Given the description of an element on the screen output the (x, y) to click on. 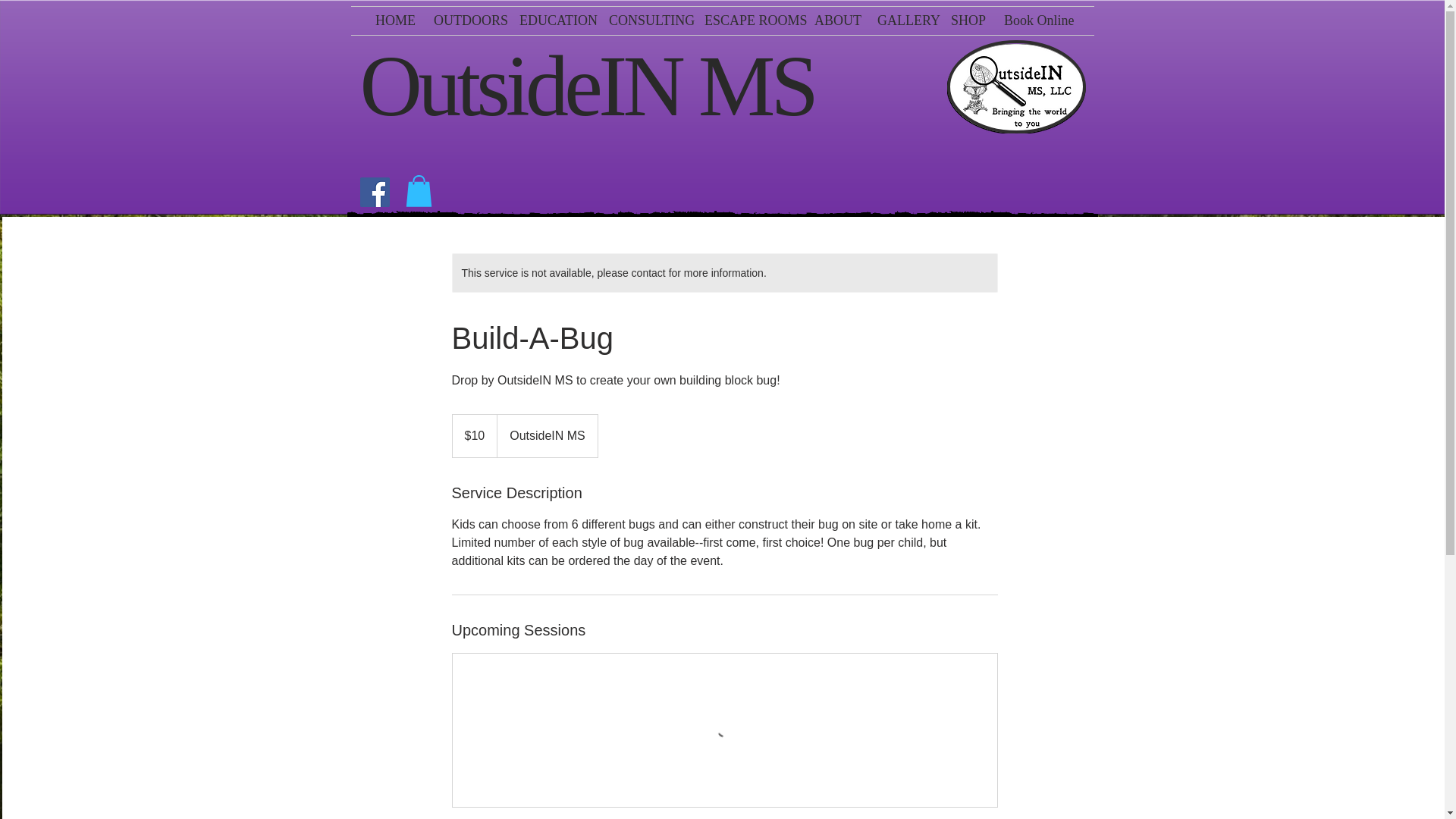
OUTDOORS (465, 20)
HOME (393, 20)
CONSULTING (644, 20)
ABOUT (834, 20)
GALLERY (902, 20)
Book Online (1036, 20)
SHOP (965, 20)
EDUCATION (552, 20)
ESCAPE ROOMS (748, 20)
